Given the description of an element on the screen output the (x, y) to click on. 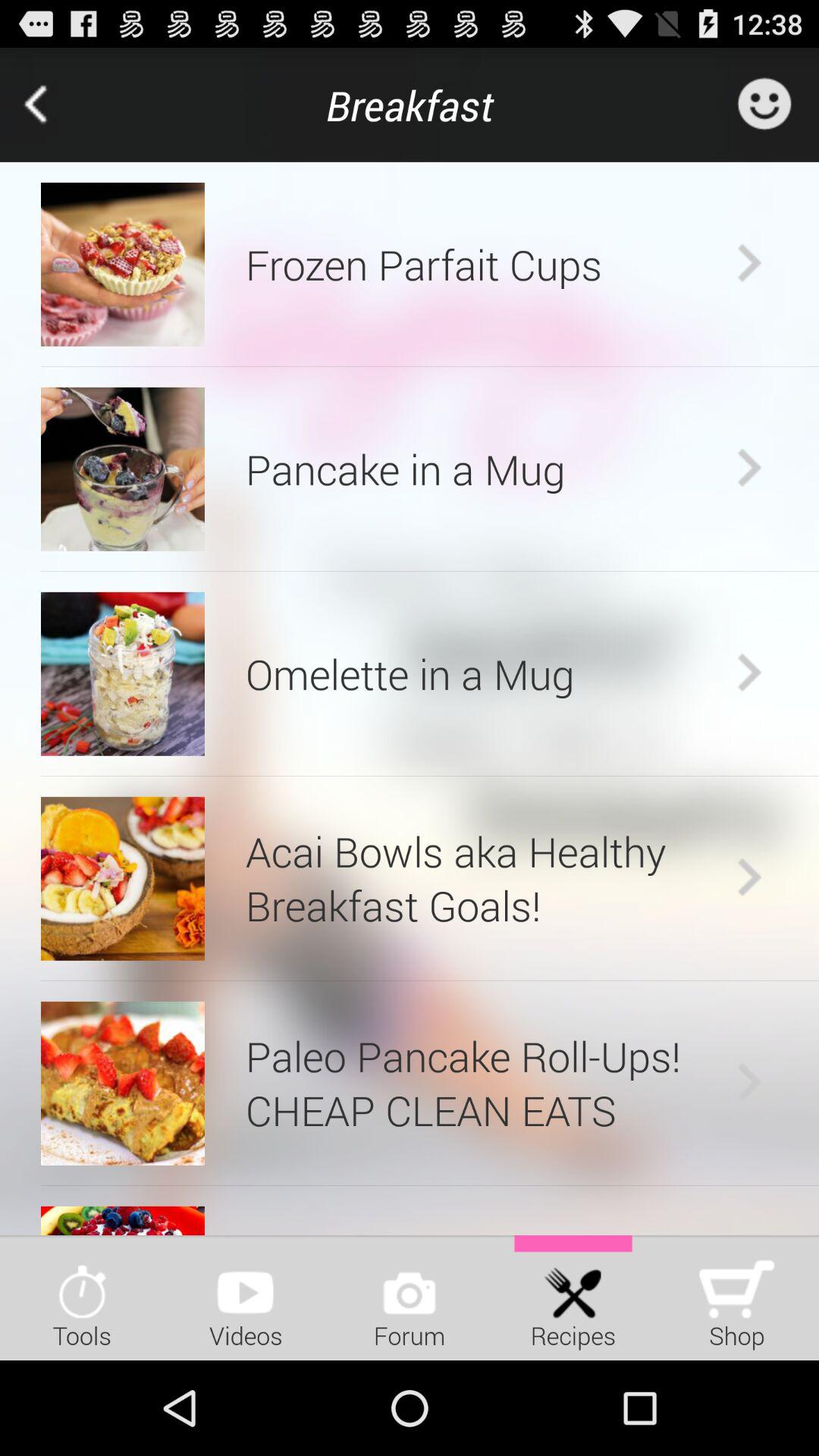
open icon next to frozen parfait cups (122, 264)
